Given the description of an element on the screen output the (x, y) to click on. 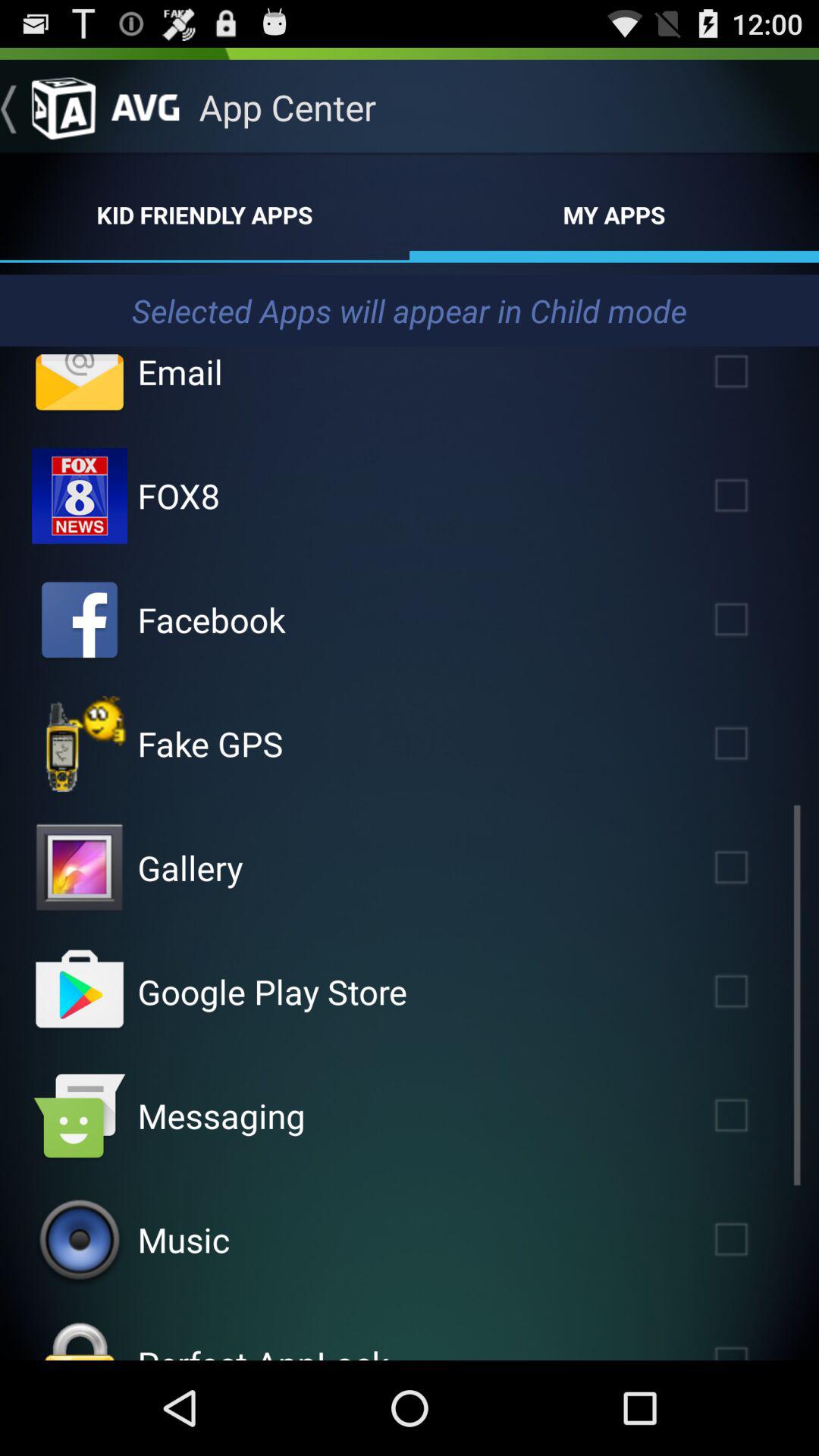
select email (753, 378)
